Given the description of an element on the screen output the (x, y) to click on. 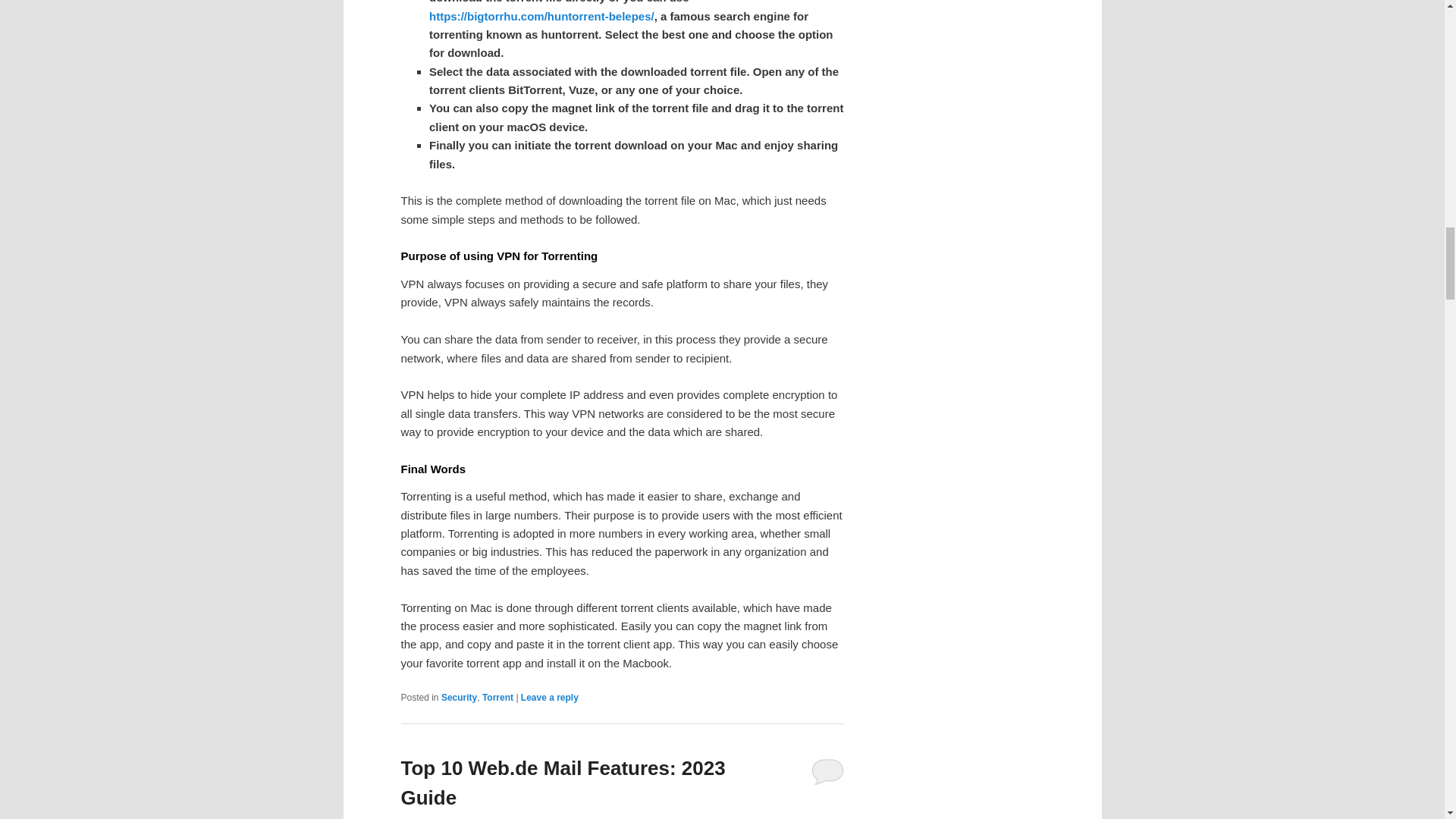
Security (459, 697)
Leave a reply (549, 697)
Top 10 Web.de Mail Features: 2023 Guide (562, 782)
Torrent (497, 697)
